Given the description of an element on the screen output the (x, y) to click on. 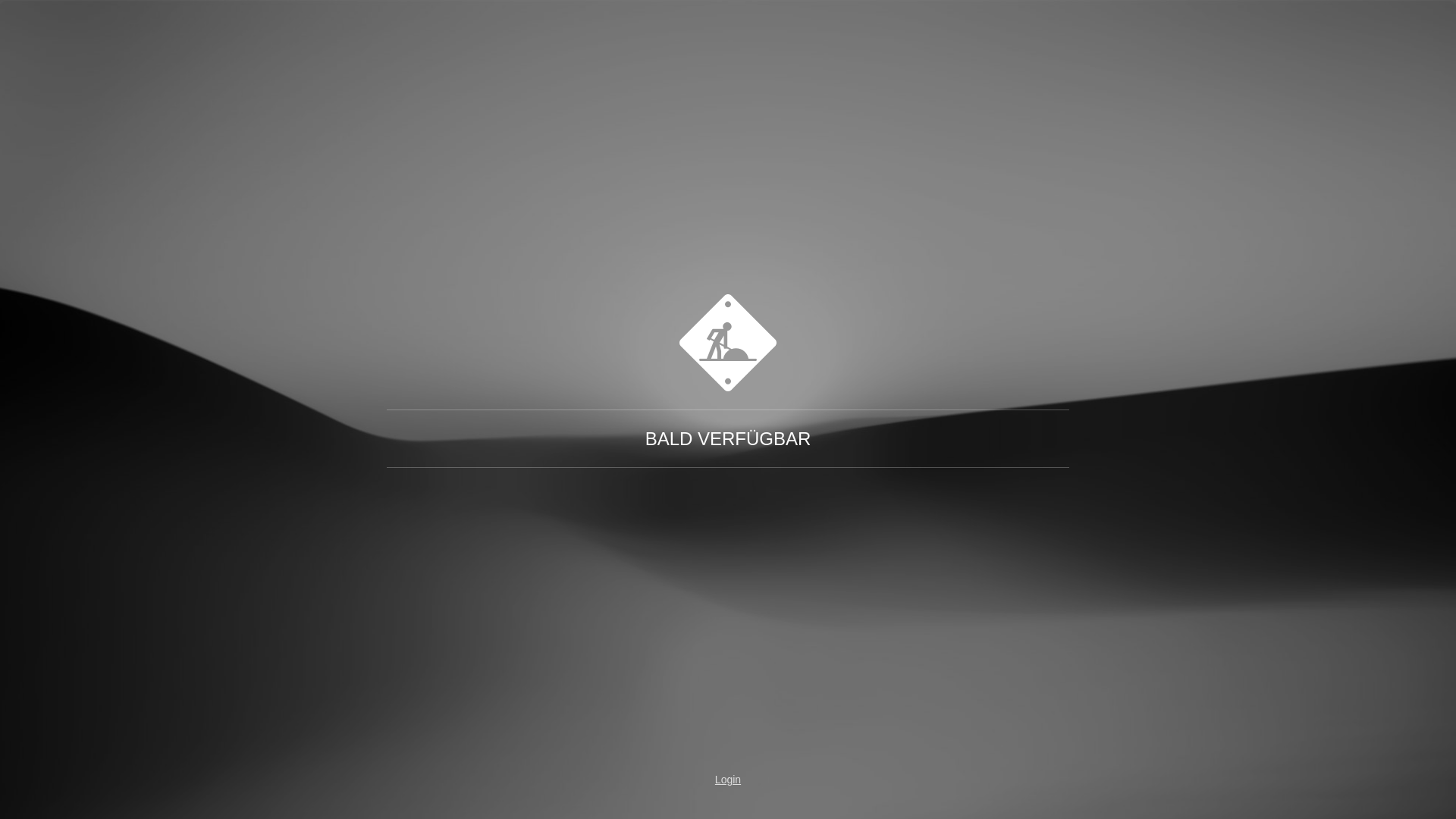
Login Element type: text (727, 779)
